Given the description of an element on the screen output the (x, y) to click on. 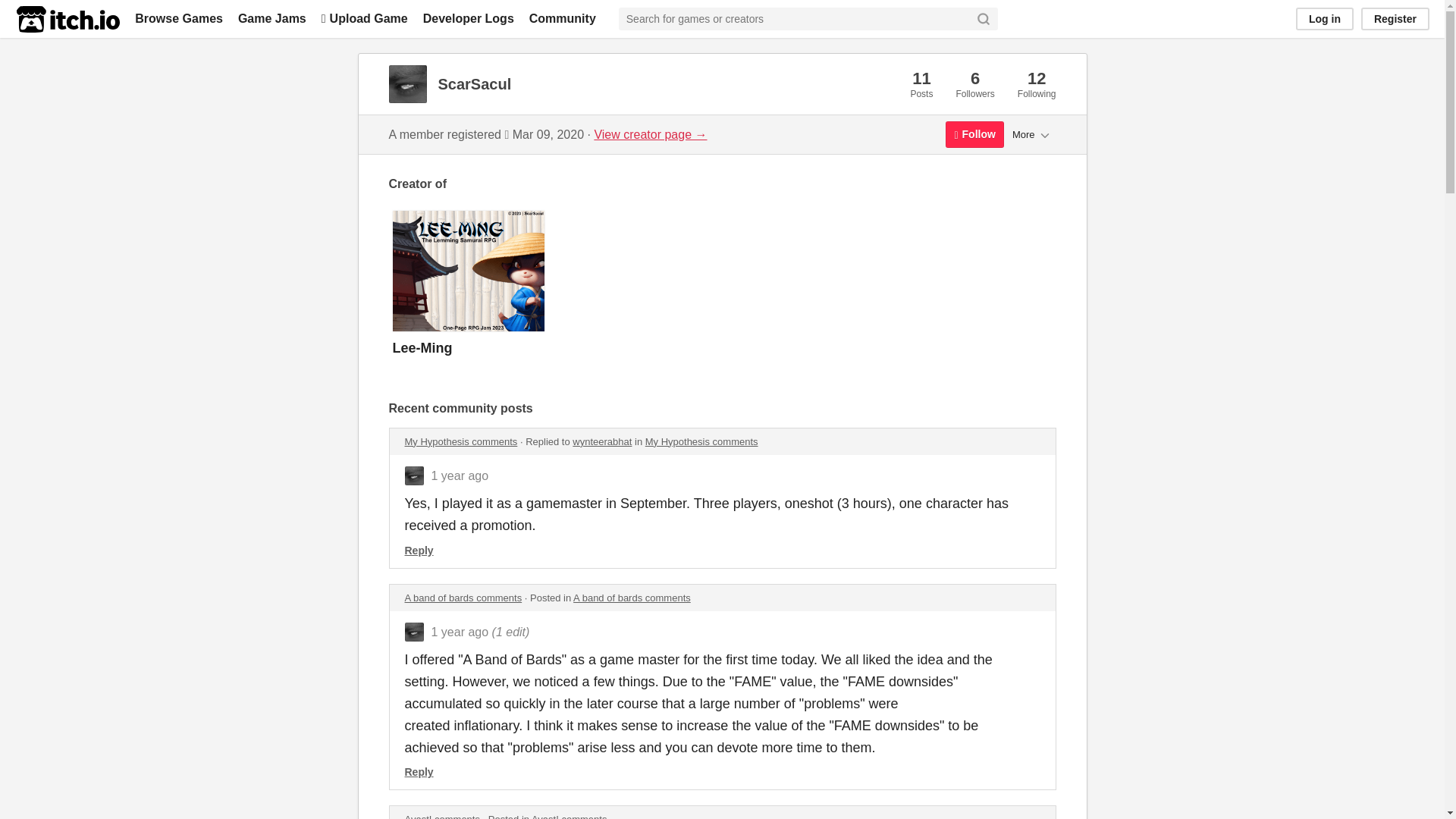
Game Jams (271, 18)
Upload Game (364, 18)
Log in (1324, 18)
1 year ago (458, 475)
Follow (973, 134)
Lee-Ming (722, 291)
Browse Games (178, 18)
2022-09-12 21:21:39 (458, 631)
Lee-Ming (422, 347)
Reply (418, 550)
My Hypothesis comments (461, 441)
Lee-Ming (722, 291)
wynteerabhat (601, 441)
Lee-Ming (722, 291)
Community (562, 18)
